Given the description of an element on the screen output the (x, y) to click on. 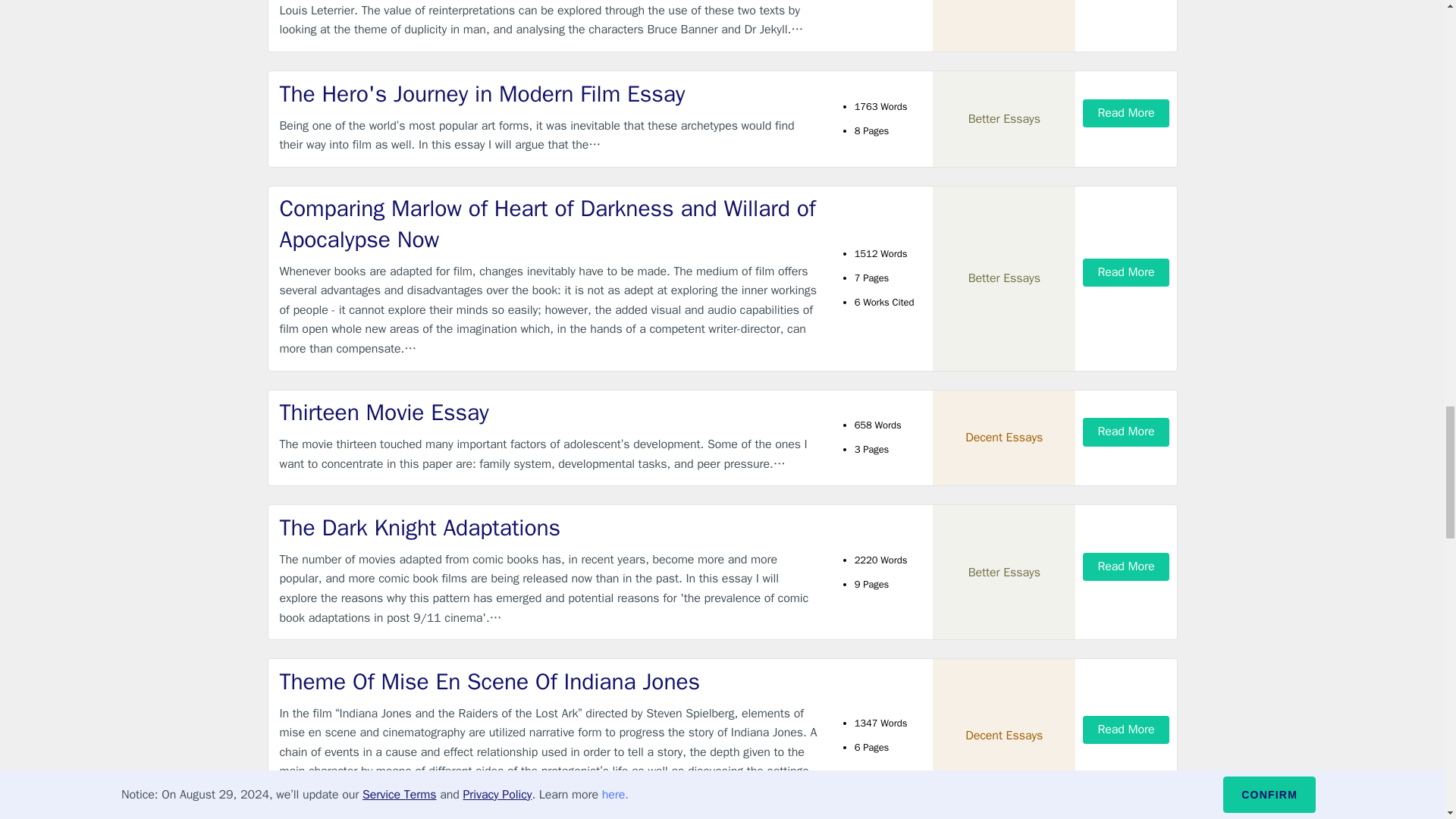
Thirteen Movie Essay (548, 412)
Read More (1126, 272)
Read More (1126, 113)
The Hero's Journey in Modern Film Essay (548, 93)
